Given the description of an element on the screen output the (x, y) to click on. 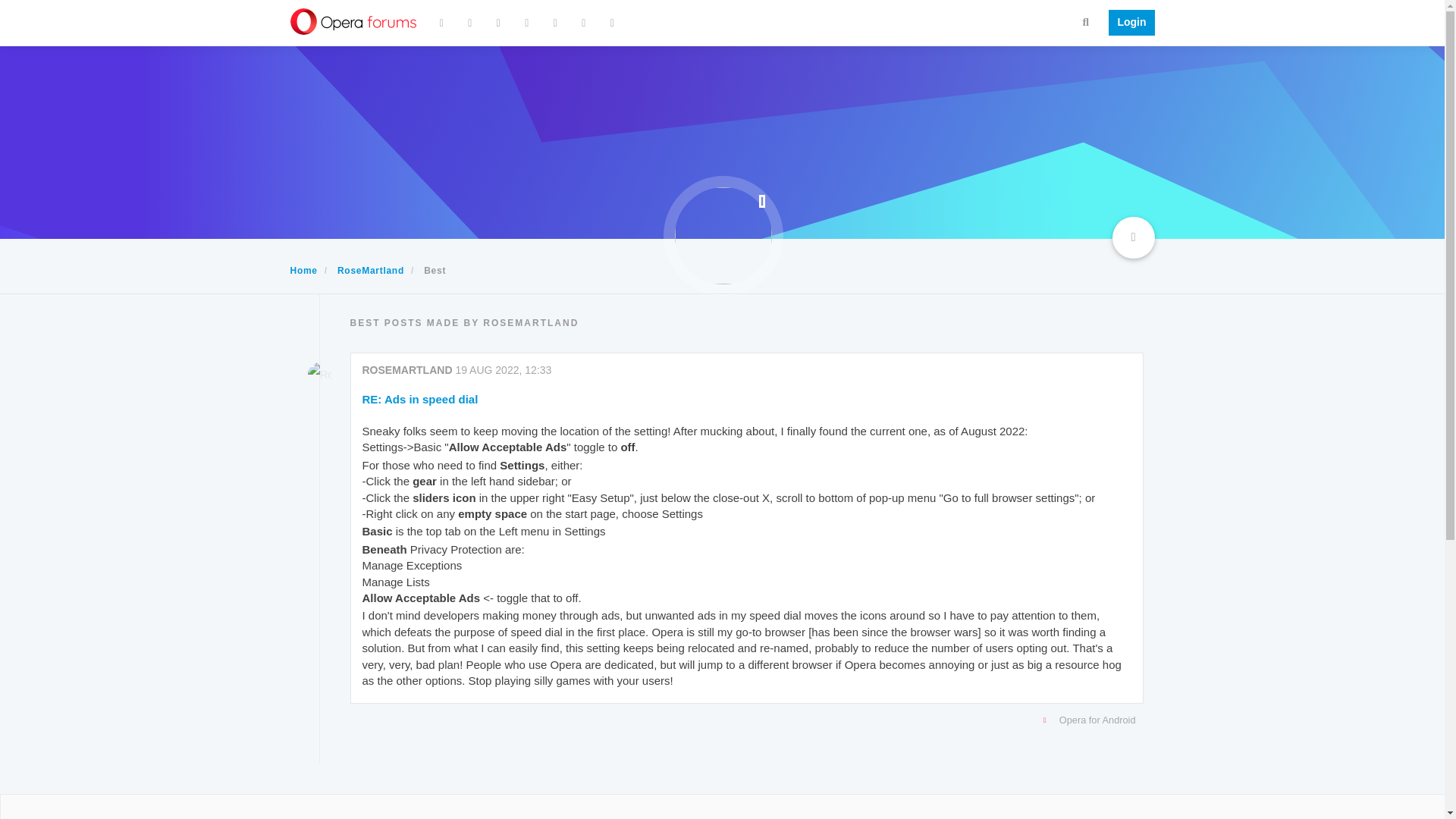
Home (303, 270)
ROSEMARTLAND (407, 369)
Login (1127, 22)
RE: Ads in speed dial (420, 399)
Search (1085, 21)
RoseMartland (370, 270)
